Given the description of an element on the screen output the (x, y) to click on. 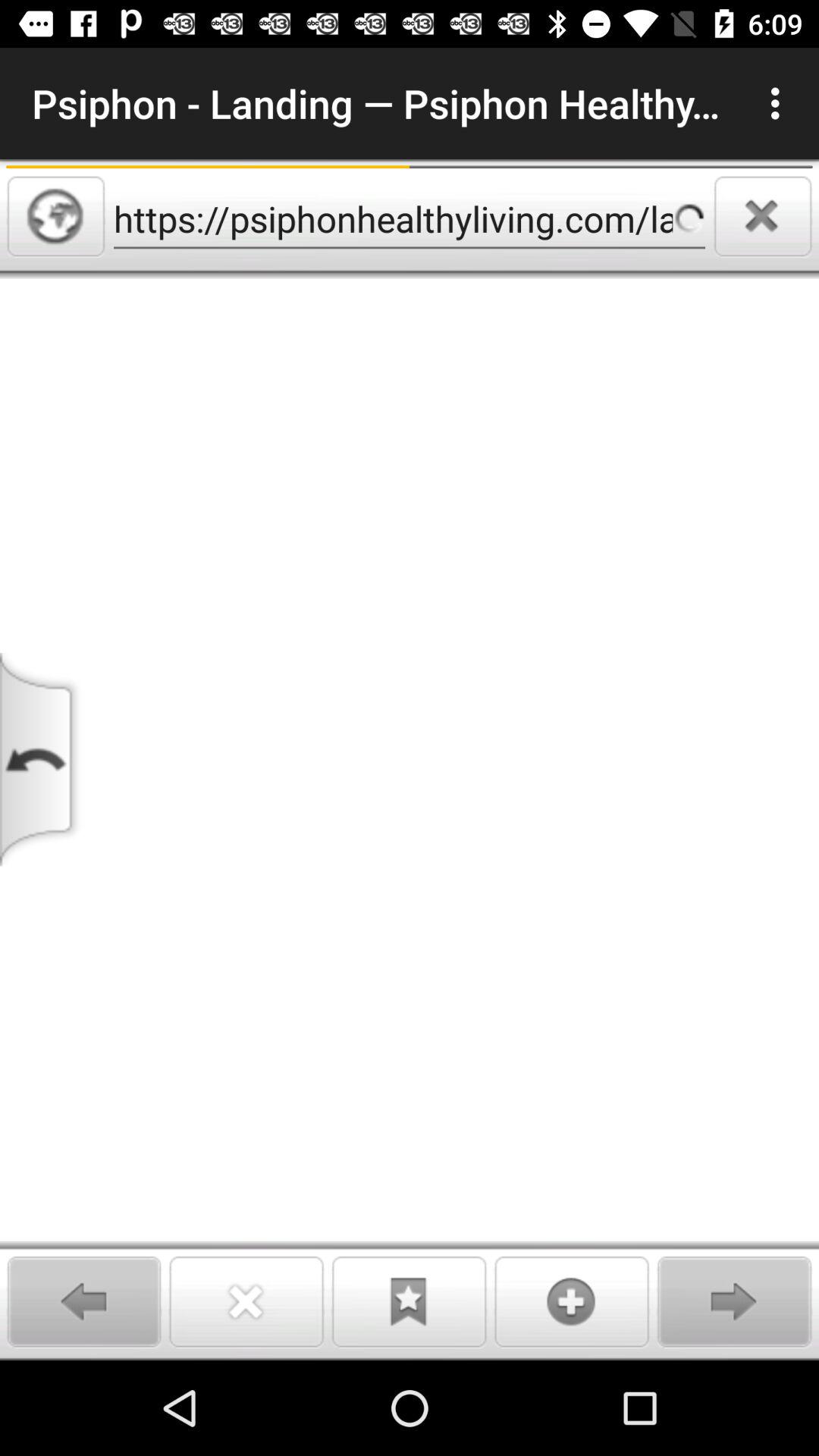
select url (55, 216)
